Given the description of an element on the screen output the (x, y) to click on. 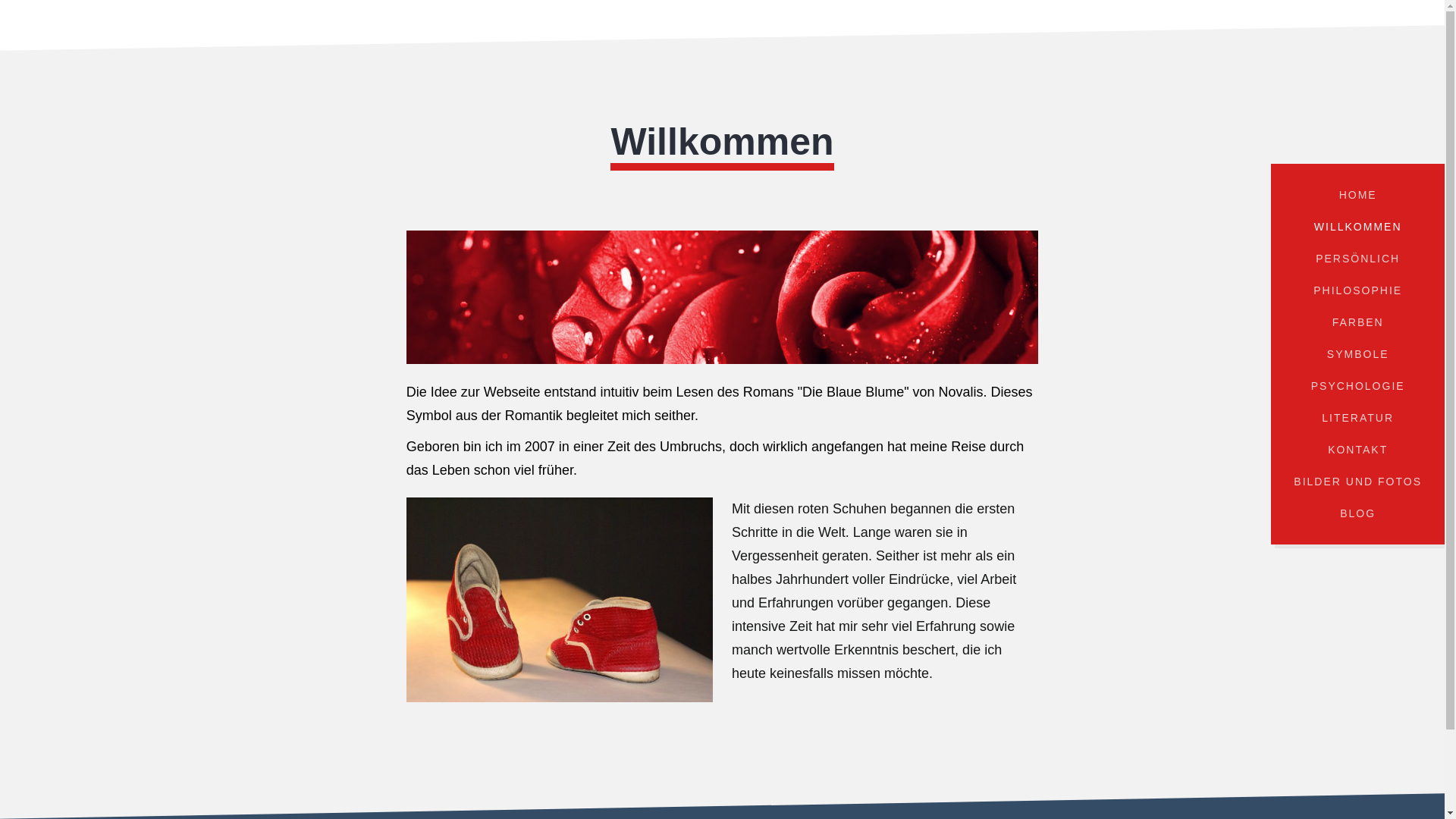
BLOG Element type: text (1357, 513)
WILLKOMMEN Element type: text (1357, 226)
PSYCHOLOGIE Element type: text (1357, 385)
SYMBOLE Element type: text (1357, 354)
HOME Element type: text (1357, 194)
BILDER UND FOTOS Element type: text (1357, 481)
KONTAKT Element type: text (1357, 449)
FARBEN Element type: text (1357, 322)
LITERATUR Element type: text (1357, 417)
PHILOSOPHIE Element type: text (1357, 290)
